Given the description of an element on the screen output the (x, y) to click on. 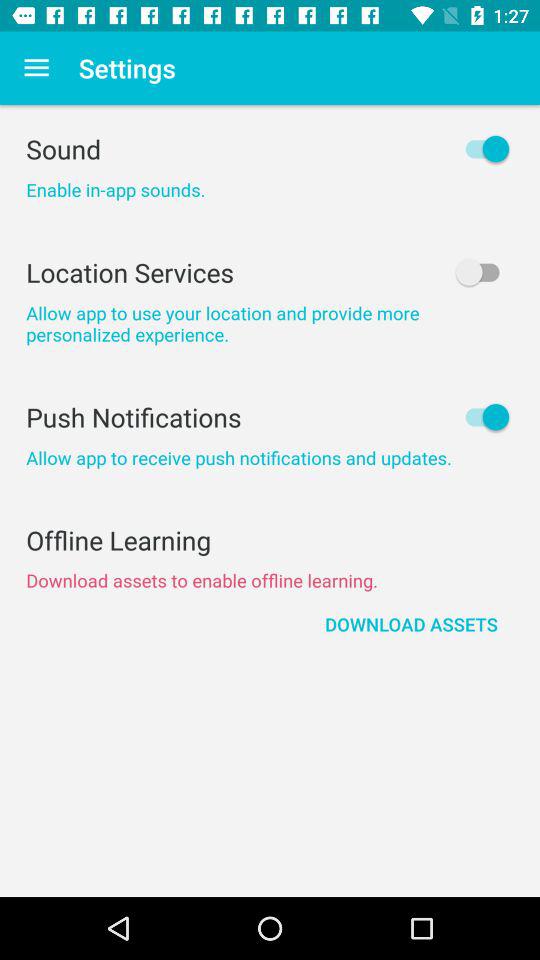
choose the item above sound (36, 68)
